Given the description of an element on the screen output the (x, y) to click on. 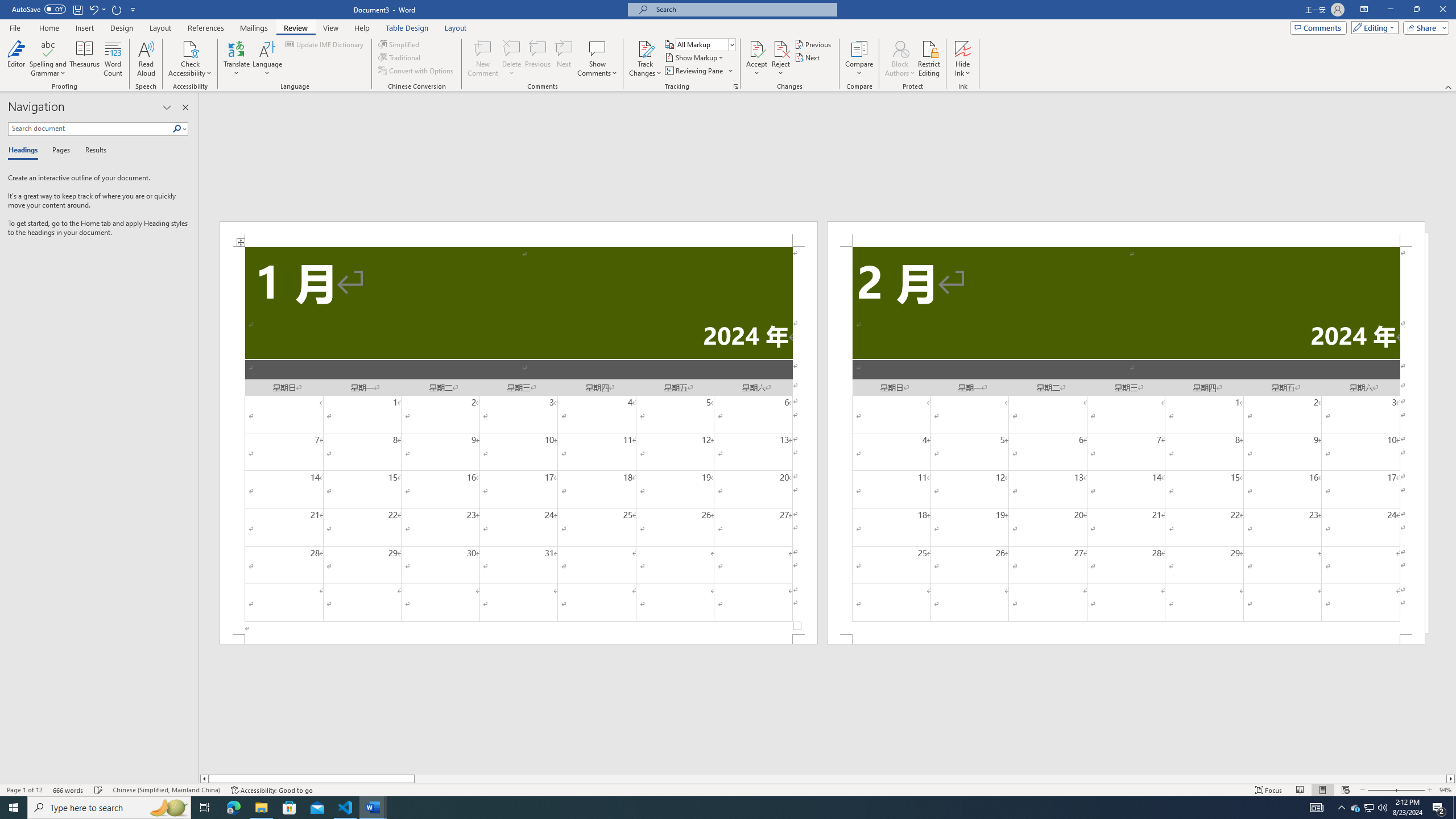
Header -Section 2- (1126, 233)
Change Tracking Options... (735, 85)
Page 1 content (518, 439)
Accept and Move to Next (756, 48)
Simplified (400, 44)
Thesaurus... (84, 58)
Restrict Editing (929, 58)
Show Markup (695, 56)
Hide Ink (962, 48)
Hide Ink (962, 58)
